Given the description of an element on the screen output the (x, y) to click on. 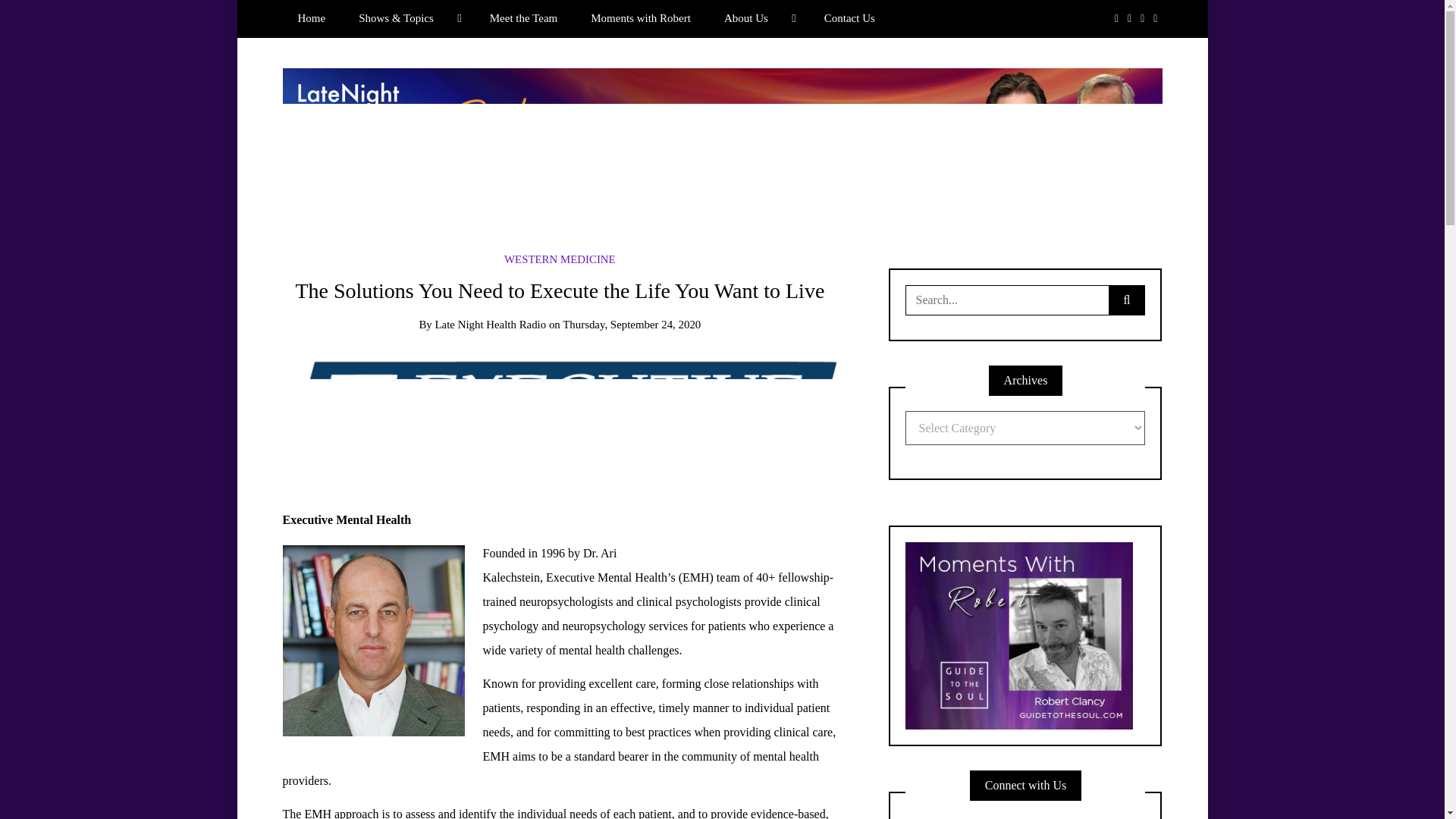
Home (311, 18)
WESTERN MEDICINE (559, 259)
About Us (757, 18)
Moments with Robert (640, 18)
Late Night Health Radio (491, 324)
Contact Us (849, 18)
Thursday, September 24, 2020 (631, 324)
Meet the Team (523, 18)
Posts by Late Night Health Radio (491, 324)
